Given the description of an element on the screen output the (x, y) to click on. 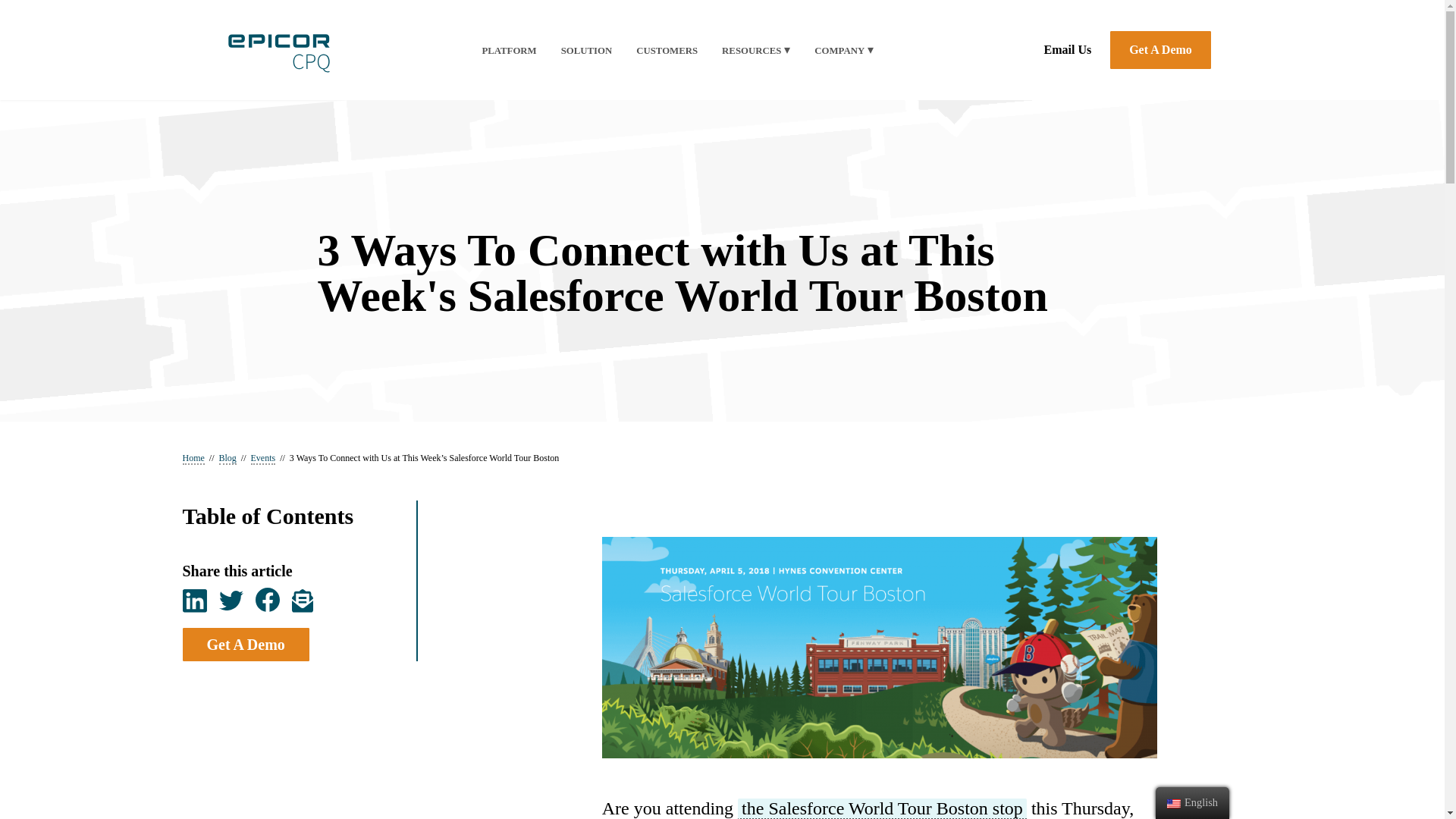
Platform (508, 51)
Solution (586, 51)
Get A Demo (245, 644)
Get A Demo (1160, 49)
SOLUTION (586, 51)
the Salesforce World Tour Boston stop (882, 808)
Customers (666, 51)
Home (192, 458)
Events (263, 458)
Share on Facebook (266, 600)
